Given the description of an element on the screen output the (x, y) to click on. 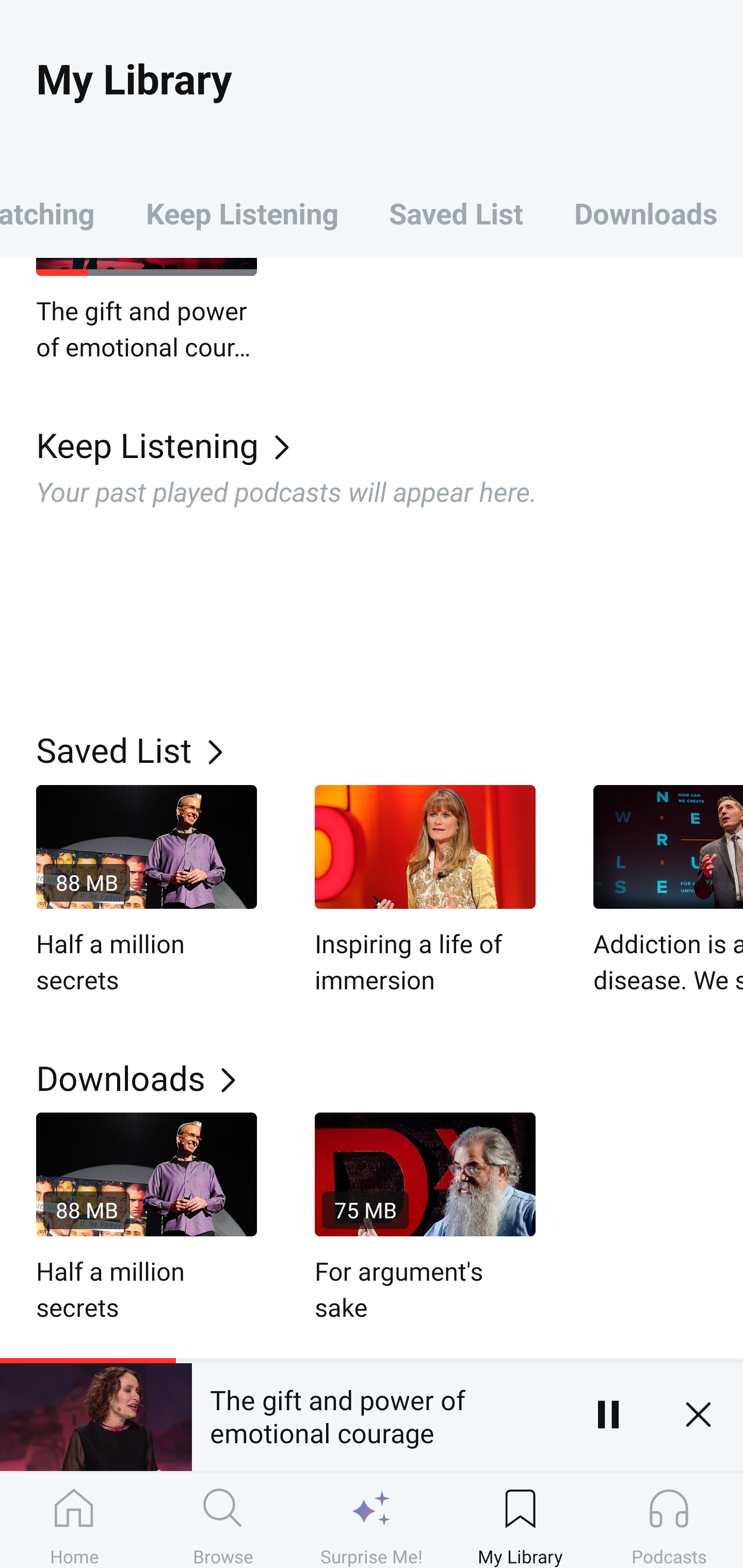
Keep Watching (60, 212)
Keep Listening (242, 212)
Saved List (456, 212)
Downloads (646, 212)
The gift and power of emotional courage (146, 310)
Keep Listening (389, 444)
Saved List (389, 749)
88 MB Half a million secrets (146, 891)
Inspiring a life of immersion (425, 891)
Downloads (389, 1077)
88 MB Half a million secrets (146, 1218)
75 MB For argument's sake (425, 1218)
The gift and power of emotional courage (377, 1413)
Home (74, 1520)
Browse (222, 1520)
Surprise Me! (371, 1520)
My Library (519, 1520)
Podcasts (668, 1520)
